Given the description of an element on the screen output the (x, y) to click on. 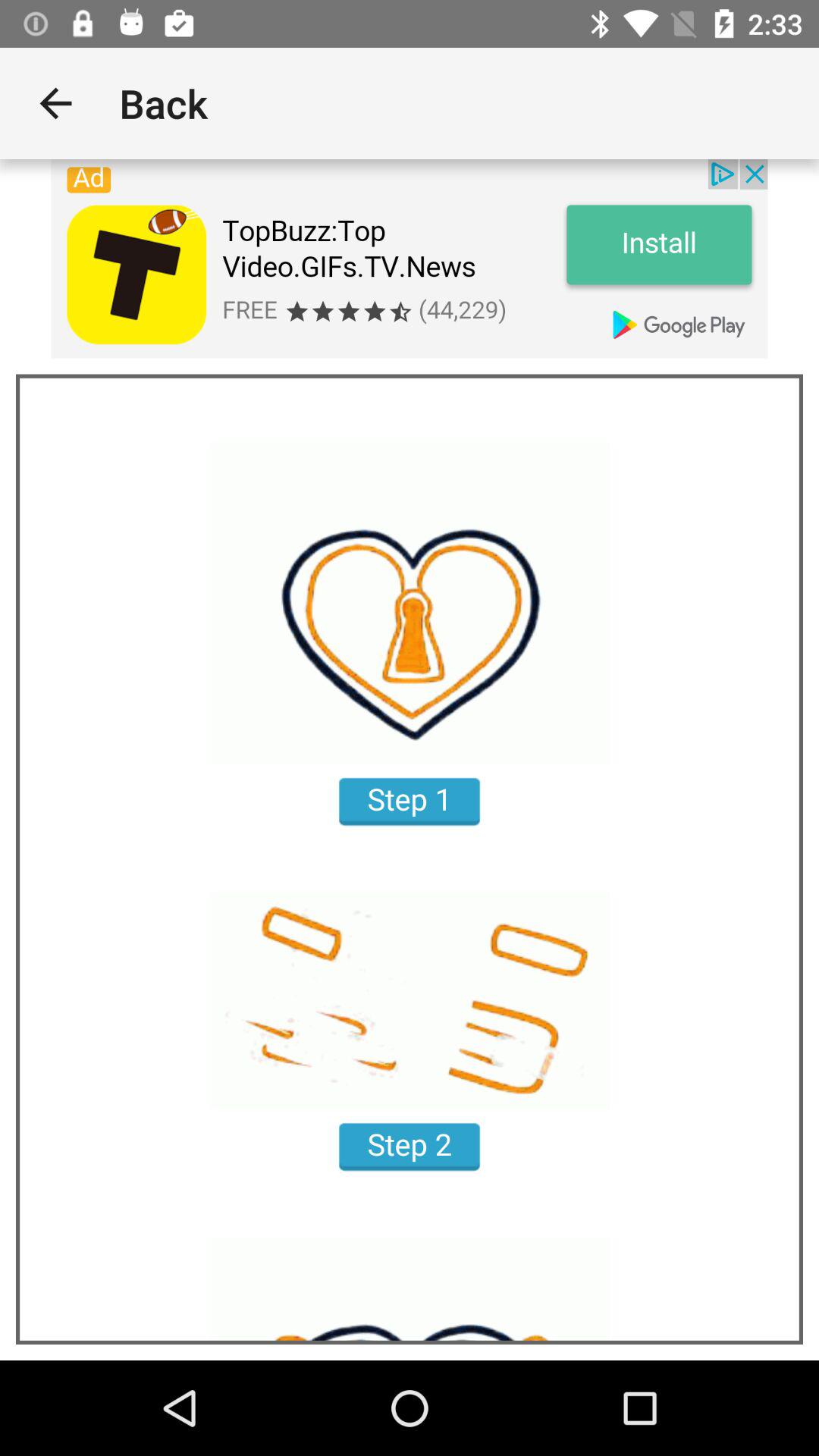
advertisement page (409, 258)
